Given the description of an element on the screen output the (x, y) to click on. 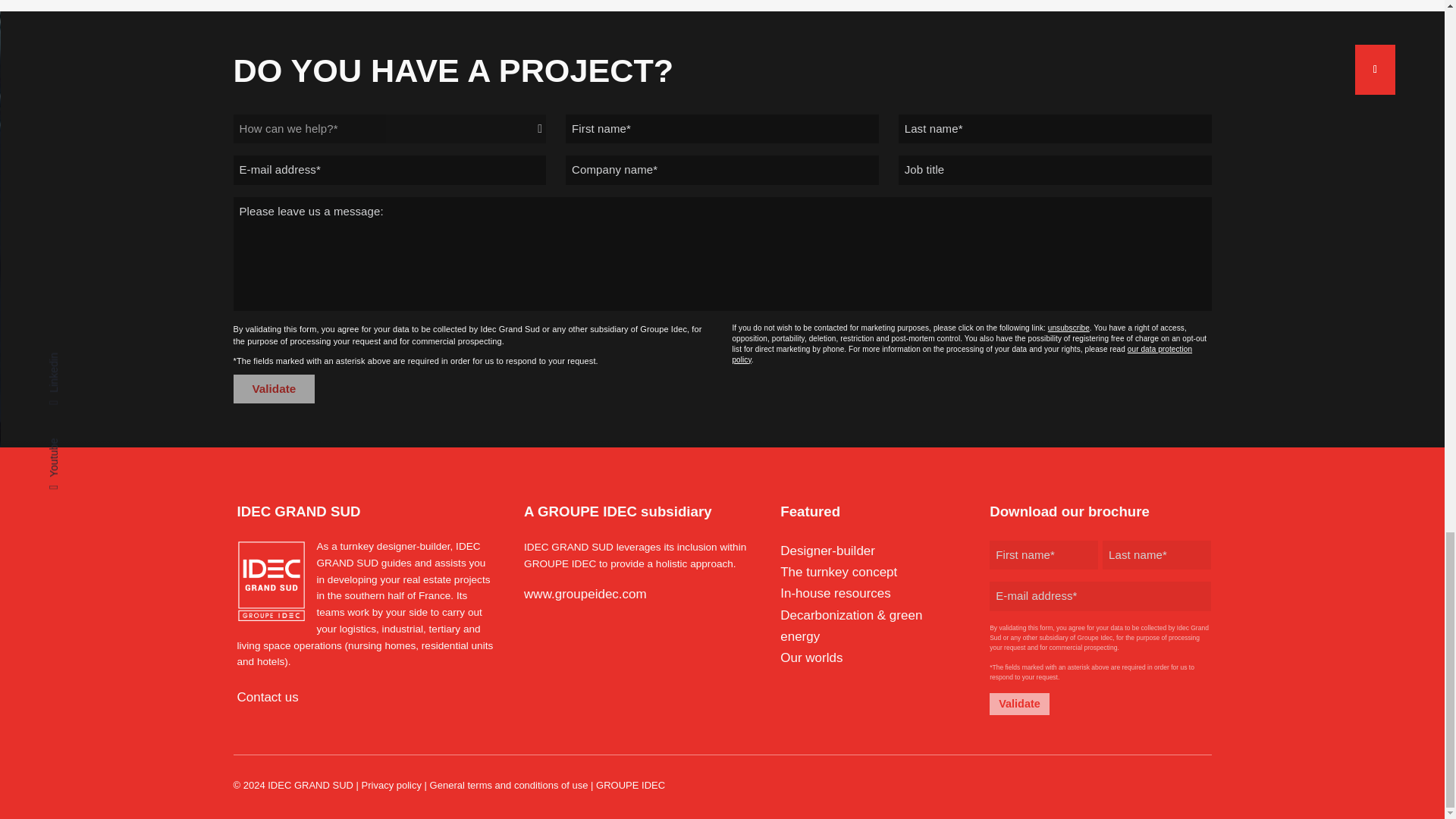
Validate (1019, 703)
Validate (273, 388)
